Given the description of an element on the screen output the (x, y) to click on. 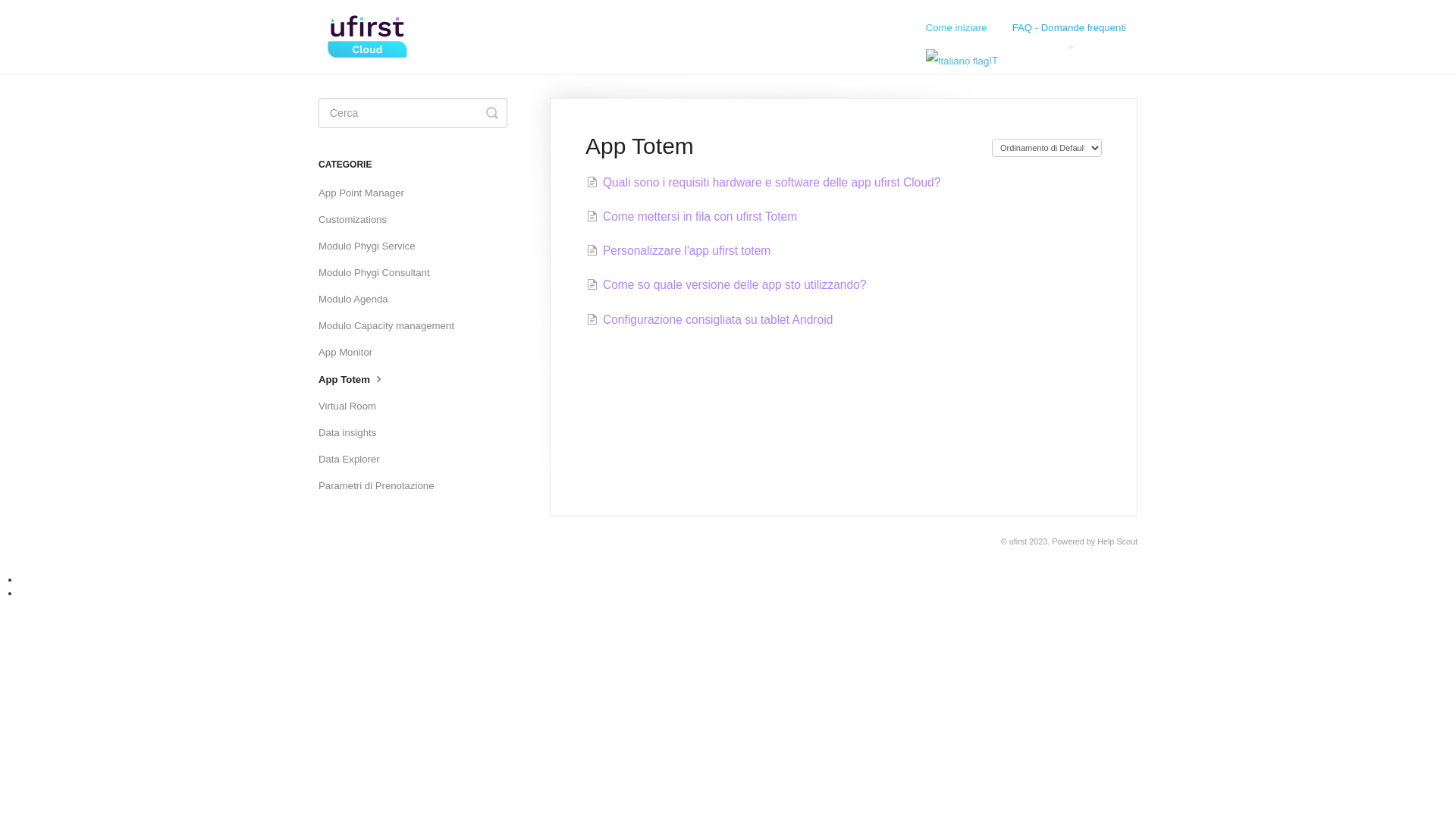
Personalizzare l'app ufirst totem Element type: text (678, 250)
App Monitor Element type: text (350, 352)
Come so quale versione delle app sto utilizzando? Element type: text (726, 284)
Come iniziare Element type: text (956, 27)
Help Scout Element type: text (1117, 541)
App Point Manager Element type: text (366, 193)
Toggle Search Element type: text (492, 112)
Modulo Capacity management Element type: text (391, 325)
Data insights Element type: text (352, 432)
FAQ - Domande frequenti Element type: text (1069, 27)
Configurazione consigliata su tablet Android Element type: text (709, 319)
search-query Element type: hover (412, 112)
Modulo Agenda Element type: text (358, 299)
Modulo Phygi Service Element type: text (372, 246)
Parametri di Prenotazione Element type: text (381, 485)
Virtual Room Element type: text (352, 406)
Modulo Phygi Consultant Element type: text (379, 272)
IT Element type: text (1025, 60)
Come mettersi in fila con ufirst Totem Element type: text (691, 216)
Data Explorer Element type: text (354, 459)
Customizations Element type: text (358, 219)
App Totem Element type: text (358, 379)
